Given the description of an element on the screen output the (x, y) to click on. 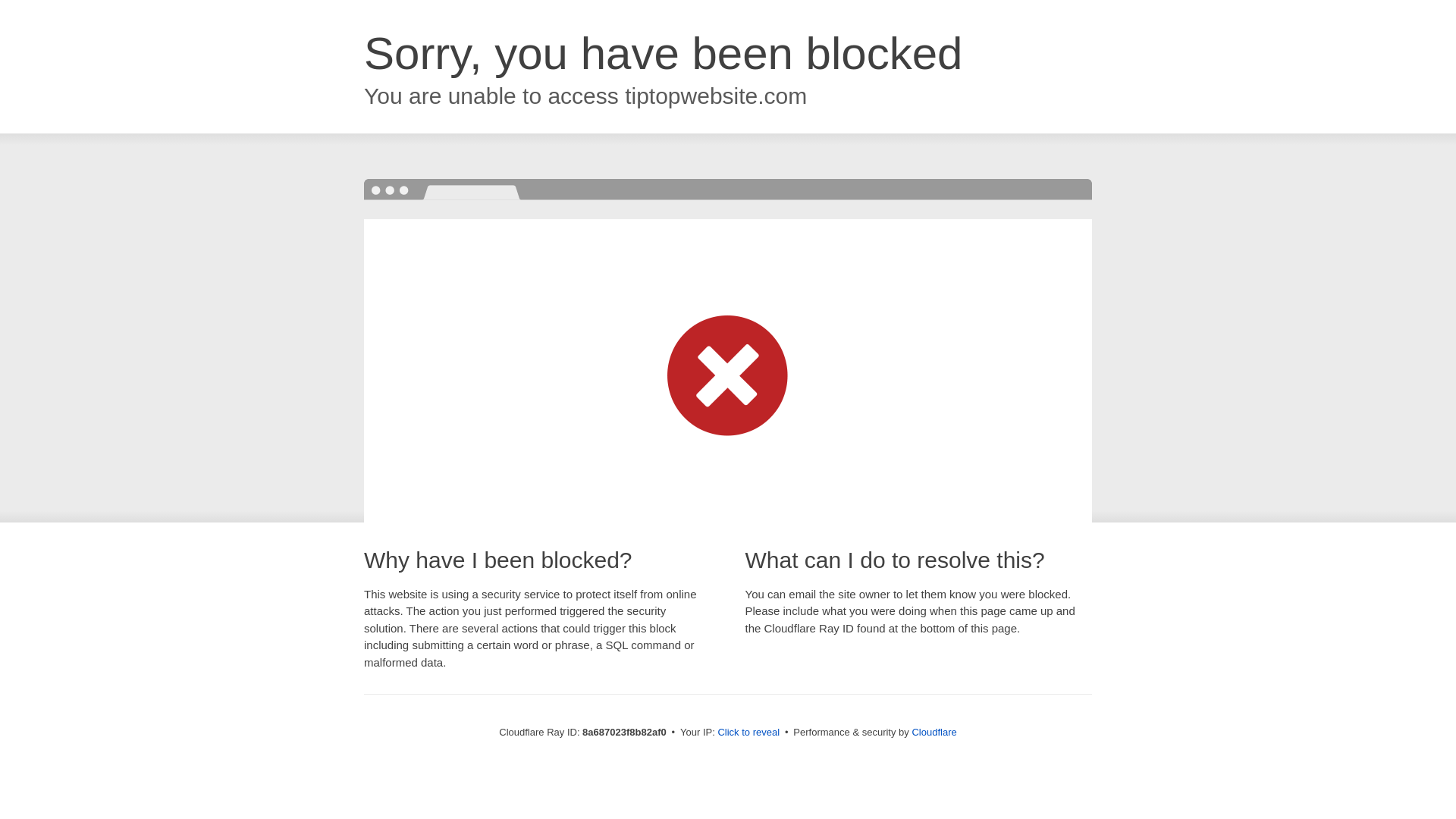
Click to reveal (747, 732)
Cloudflare (933, 731)
